Given the description of an element on the screen output the (x, y) to click on. 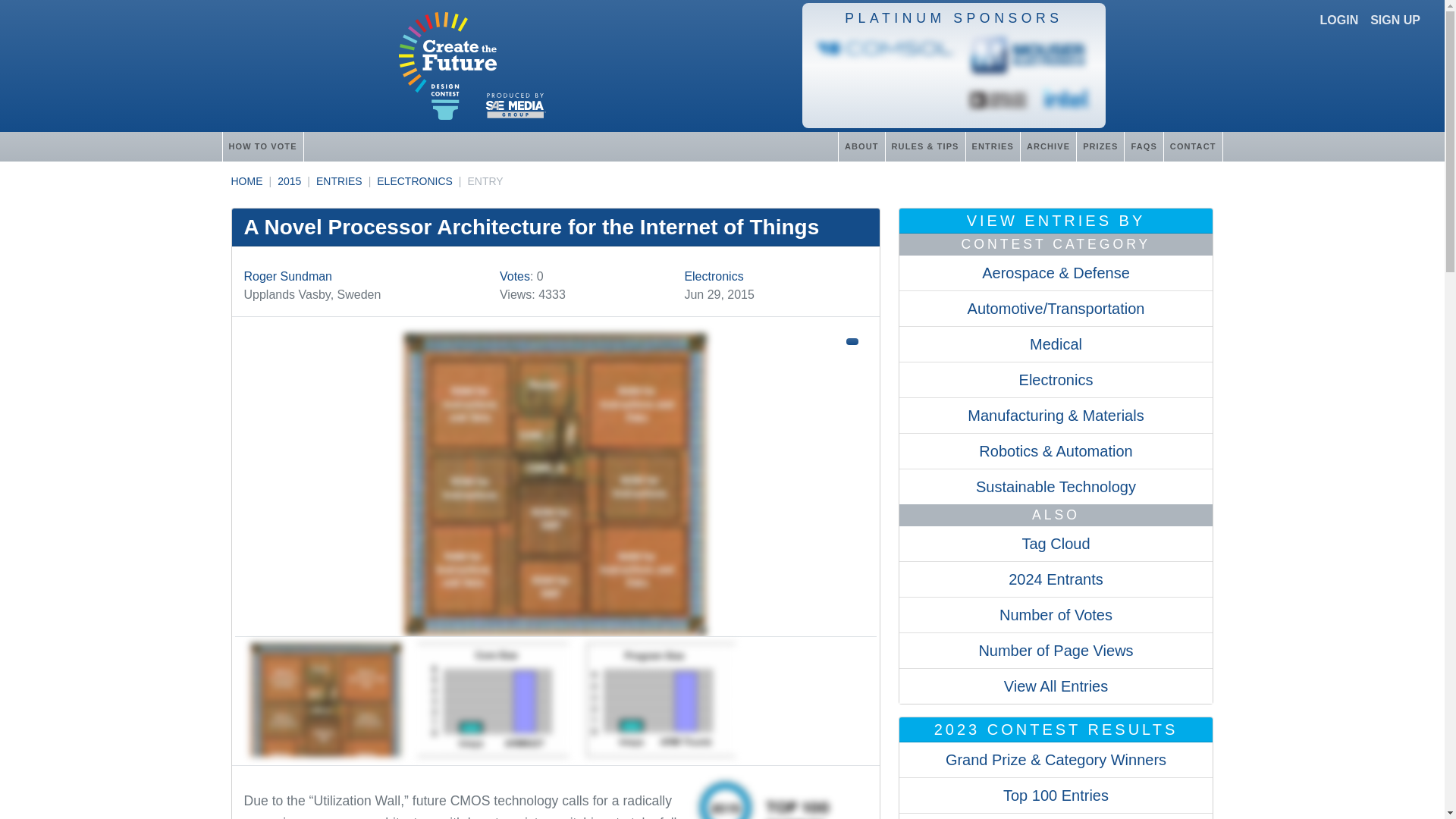
PRIZES (1099, 146)
ENTRIES (992, 146)
Electronics (713, 276)
ELECTRONICS (414, 181)
ARCHIVE (1047, 146)
LOGIN (1339, 20)
HOW TO VOTE (261, 146)
ABOUT (861, 146)
Votes (514, 276)
FAQS (1142, 146)
